Given the description of an element on the screen output the (x, y) to click on. 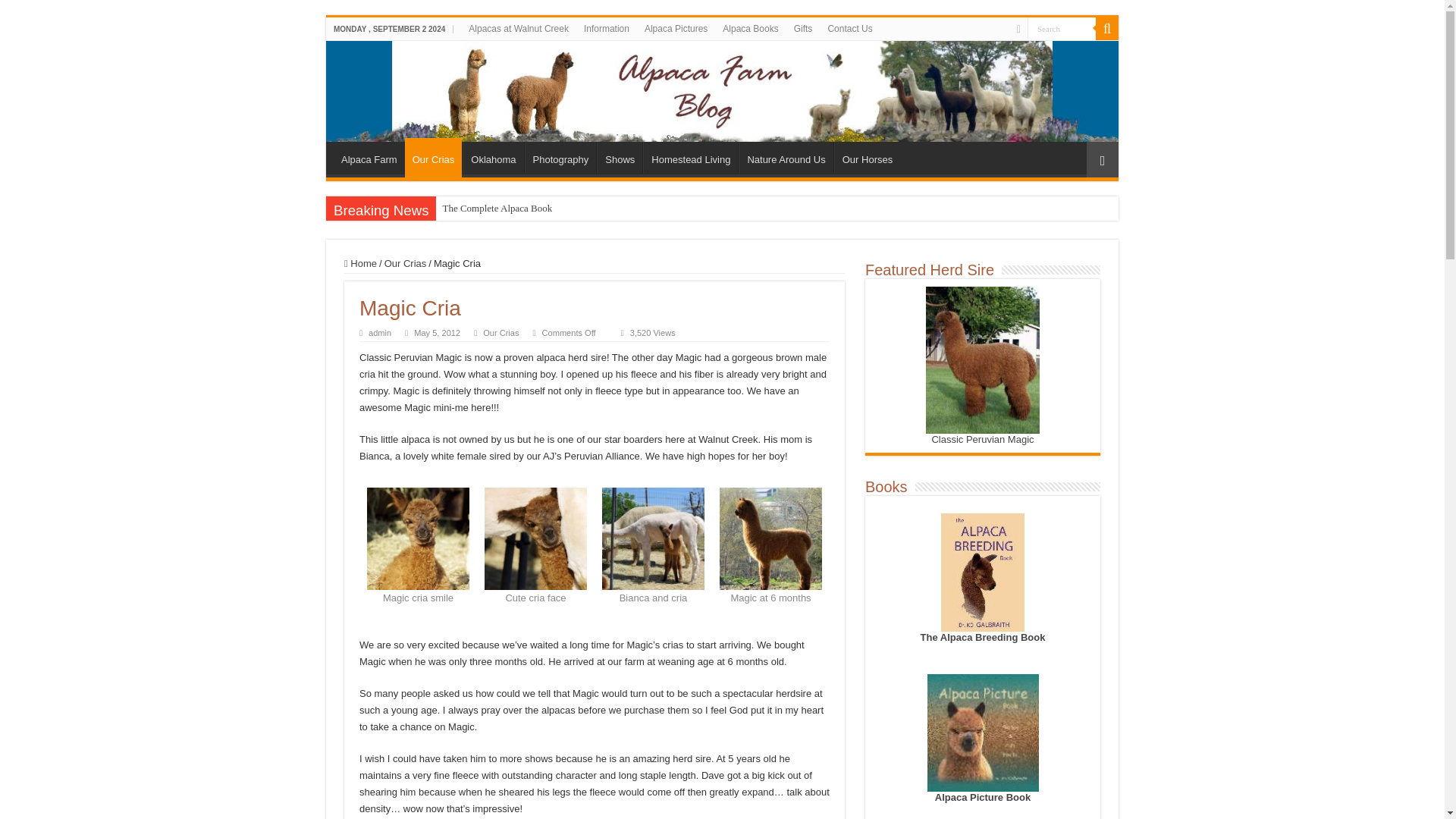
Homestead Living (690, 157)
Alpaca Farm (368, 157)
The Complete Alpaca Book (496, 208)
Alpaca Books (750, 28)
Search (1061, 28)
The Complete Alpaca Book (496, 208)
Oklahoma (492, 157)
Our Horses (866, 157)
Nature Around Us (785, 157)
Alpaca Pictures (675, 28)
